Given the description of an element on the screen output the (x, y) to click on. 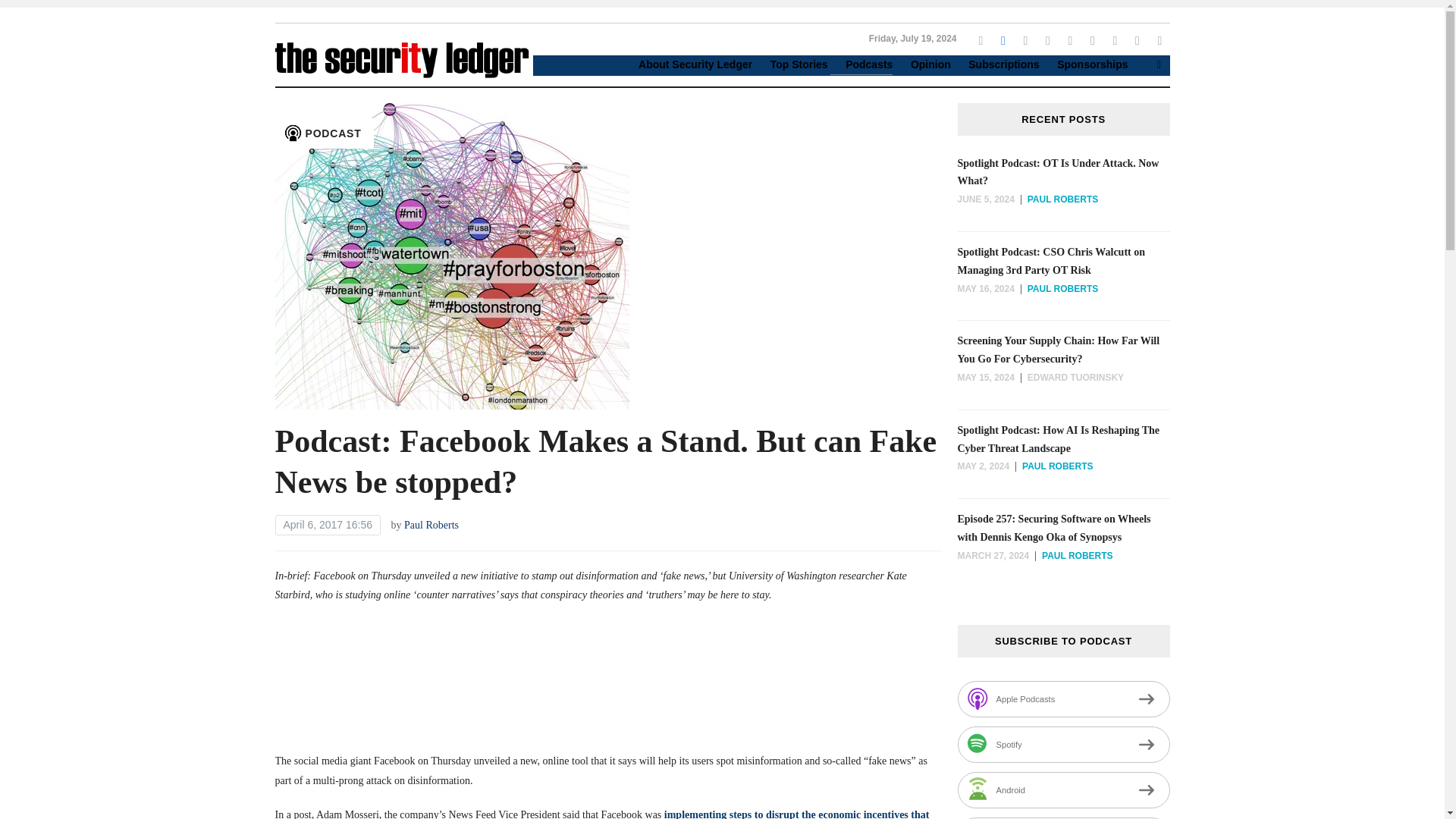
Follow Me (1002, 39)
twitter (980, 39)
soundcloud (1115, 39)
facebook (1002, 39)
mail (1159, 39)
Search (1158, 64)
Default Label (1137, 39)
apple (1092, 39)
Default Label (1115, 39)
About Security Ledger (687, 64)
Default Label (1159, 39)
TOP STORIES (147, 60)
Instagram (1025, 39)
Default Label (1069, 39)
PODCASTS (166, 91)
